Given the description of an element on the screen output the (x, y) to click on. 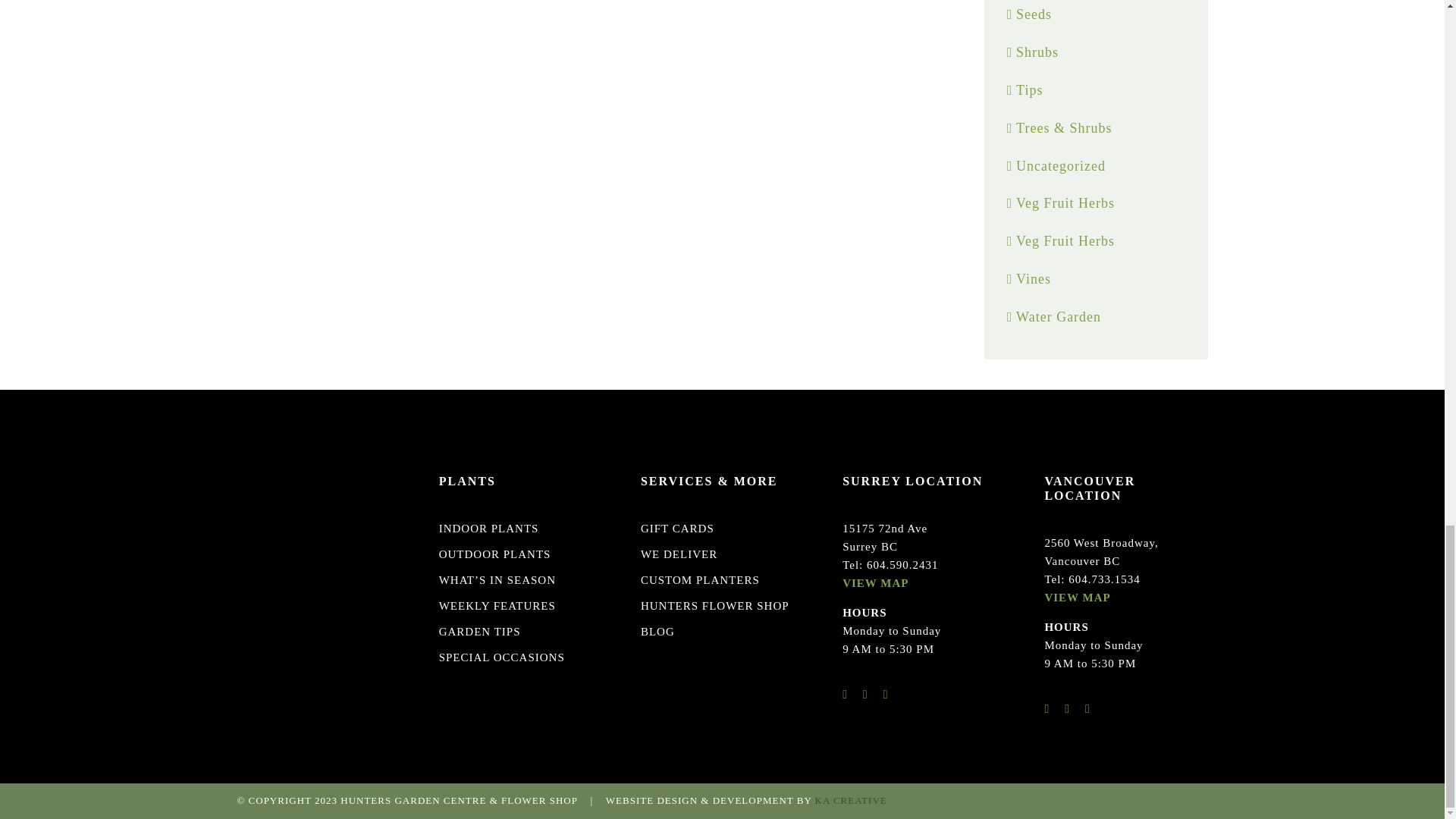
hunters logo footer vert (316, 519)
